Given the description of an element on the screen output the (x, y) to click on. 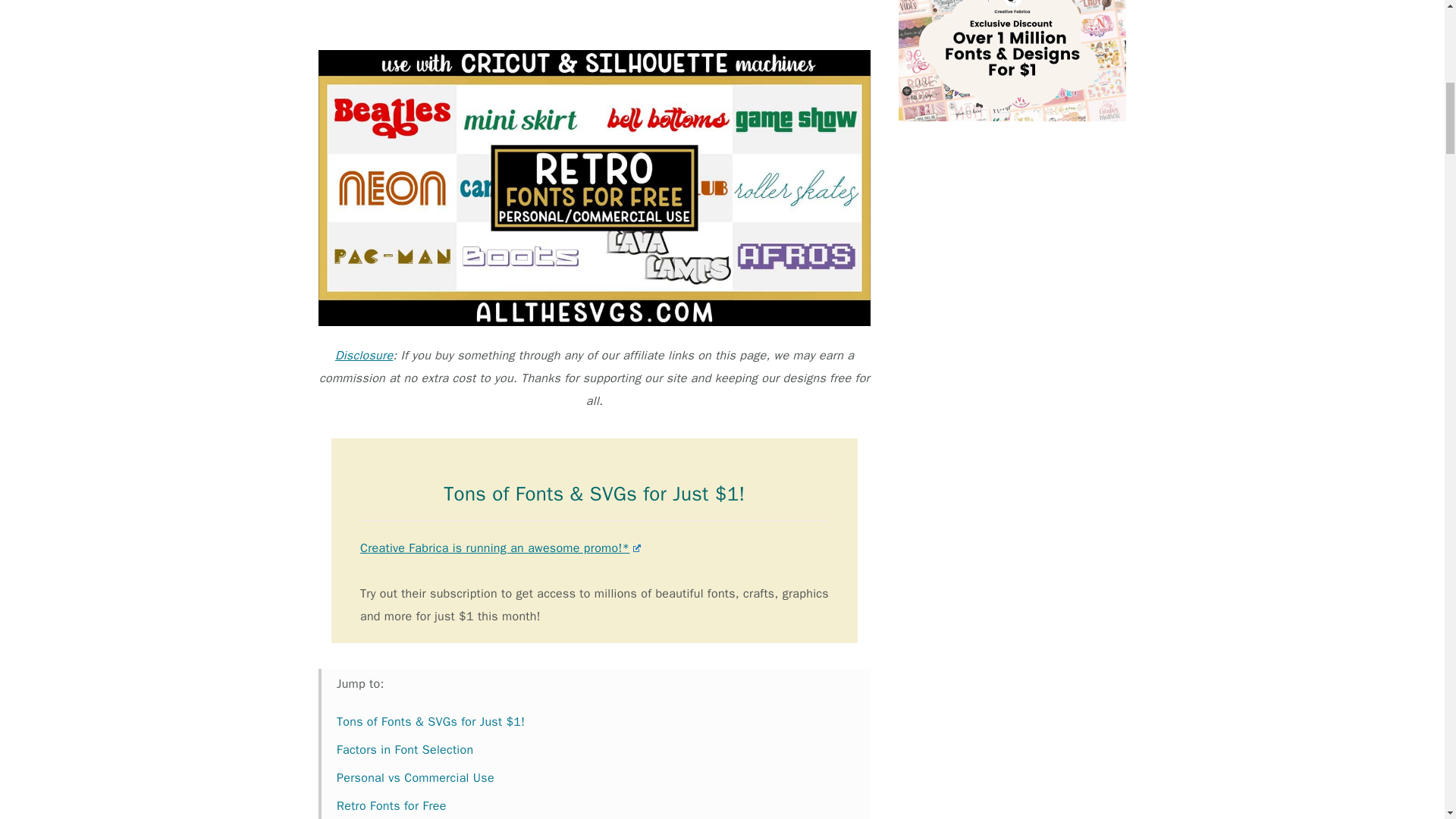
Factors in Font Selection (404, 749)
Retro Fonts for Free (391, 806)
Personal vs Commercial Use (415, 777)
Disclosure (363, 355)
